Given the description of an element on the screen output the (x, y) to click on. 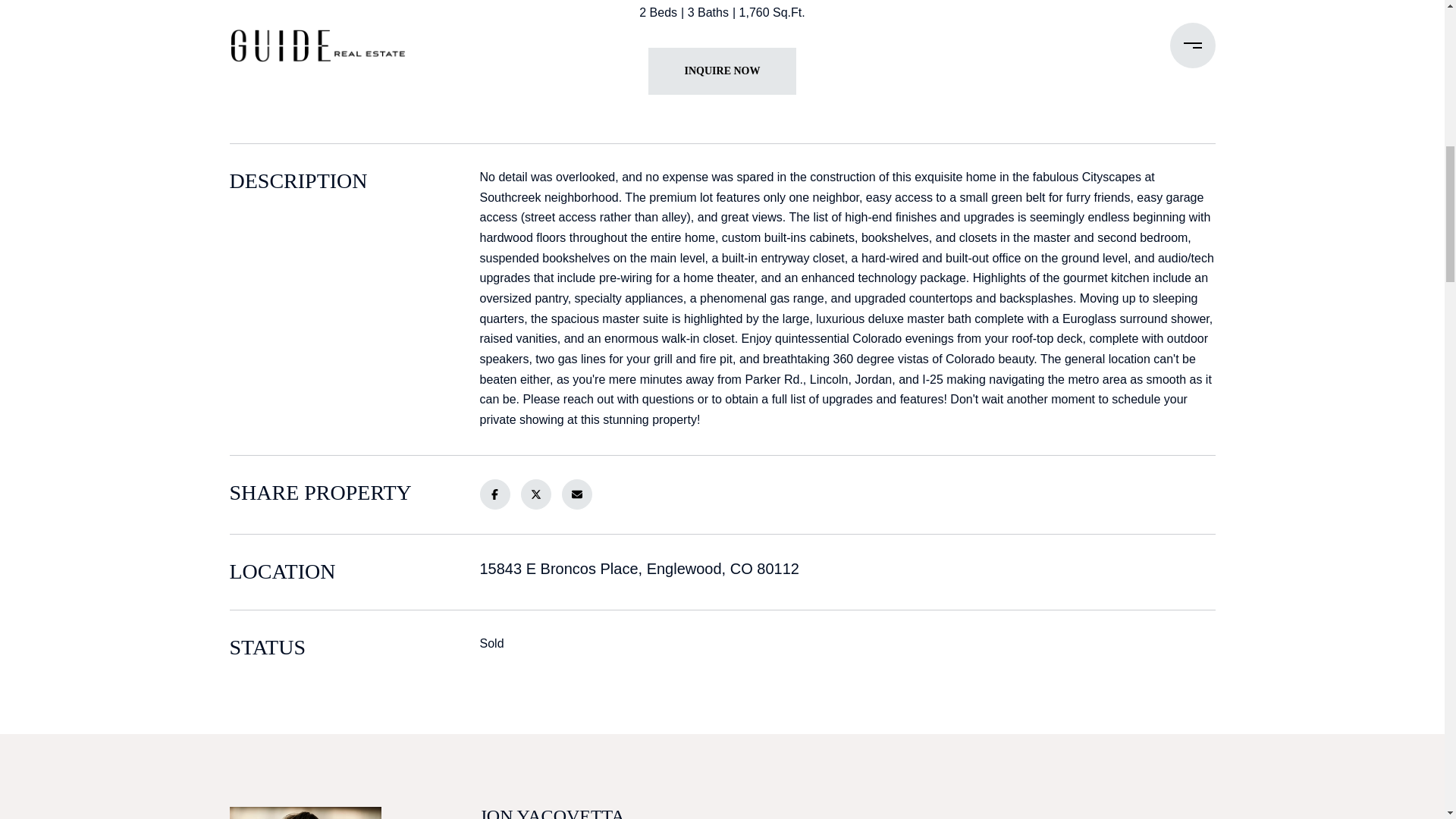
INQUIRE NOW (721, 71)
